Given the description of an element on the screen output the (x, y) to click on. 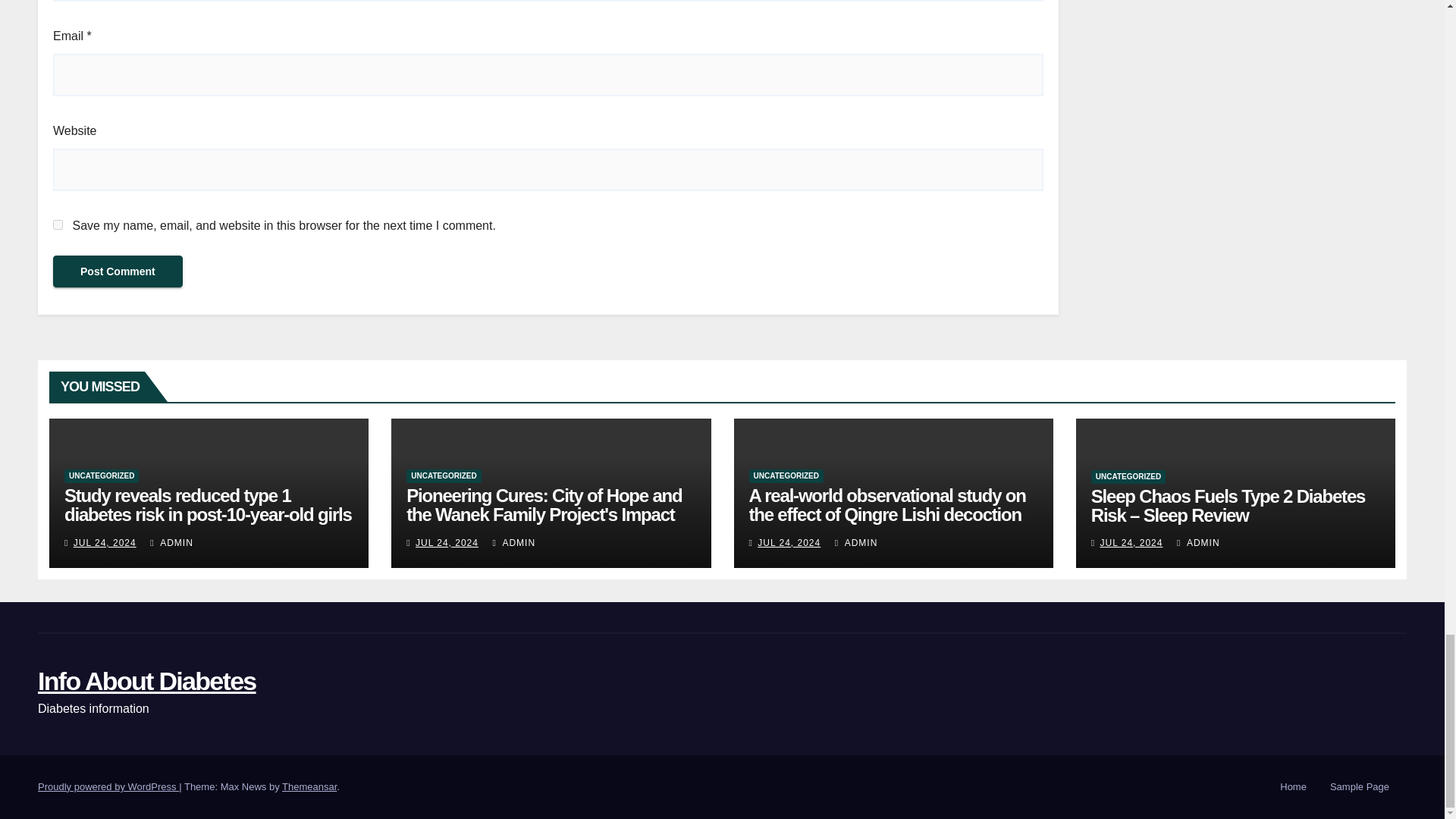
Post Comment (117, 271)
yes (57, 225)
Home (1293, 786)
